Given the description of an element on the screen output the (x, y) to click on. 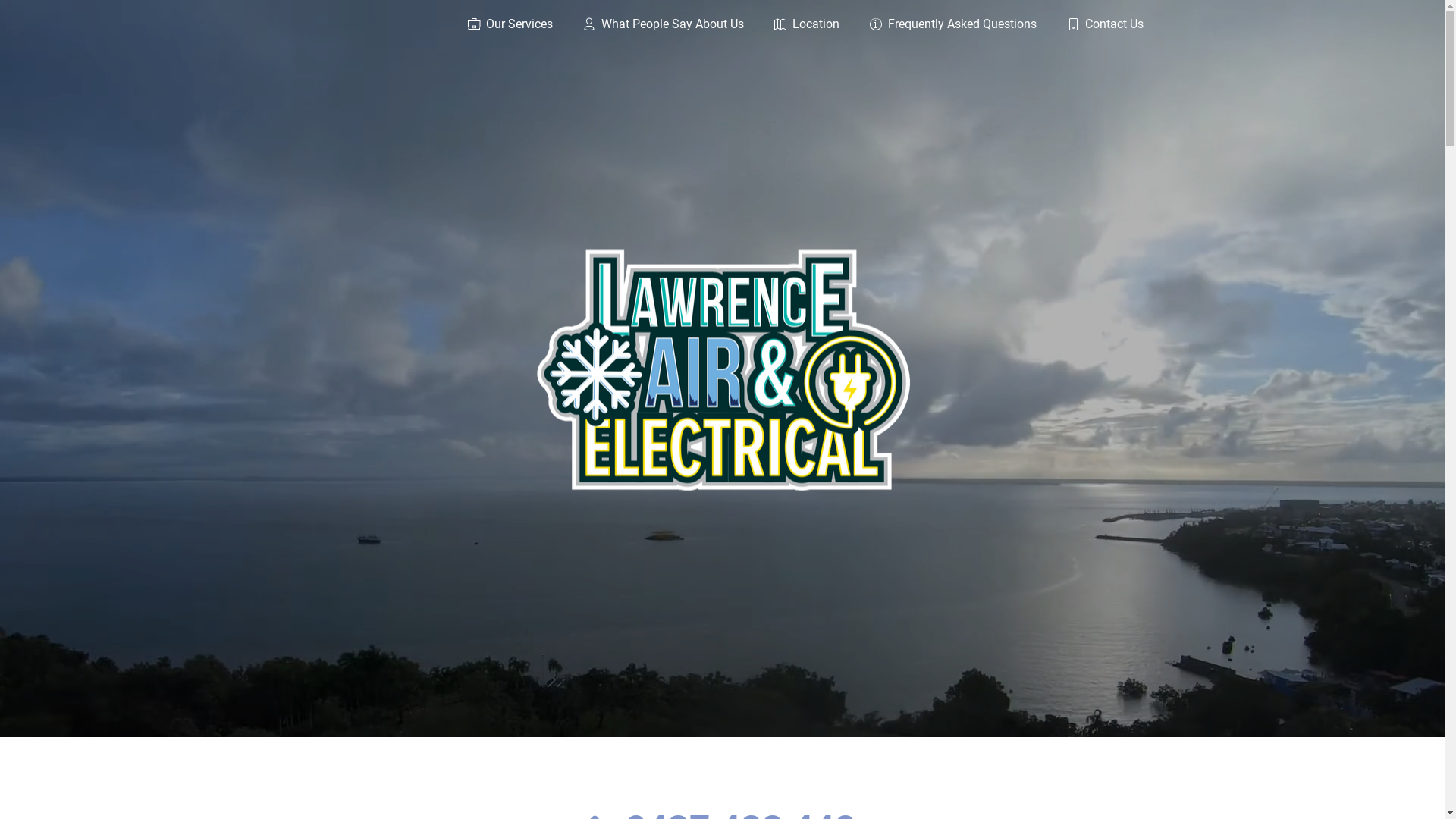
  What People Say About Us Element type: text (647, 25)
  Contact Us Element type: text (1088, 25)
  Location Element type: text (790, 25)
  Our Services Element type: text (494, 25)
  Frequently Asked Questions Element type: text (936, 25)
